Given the description of an element on the screen output the (x, y) to click on. 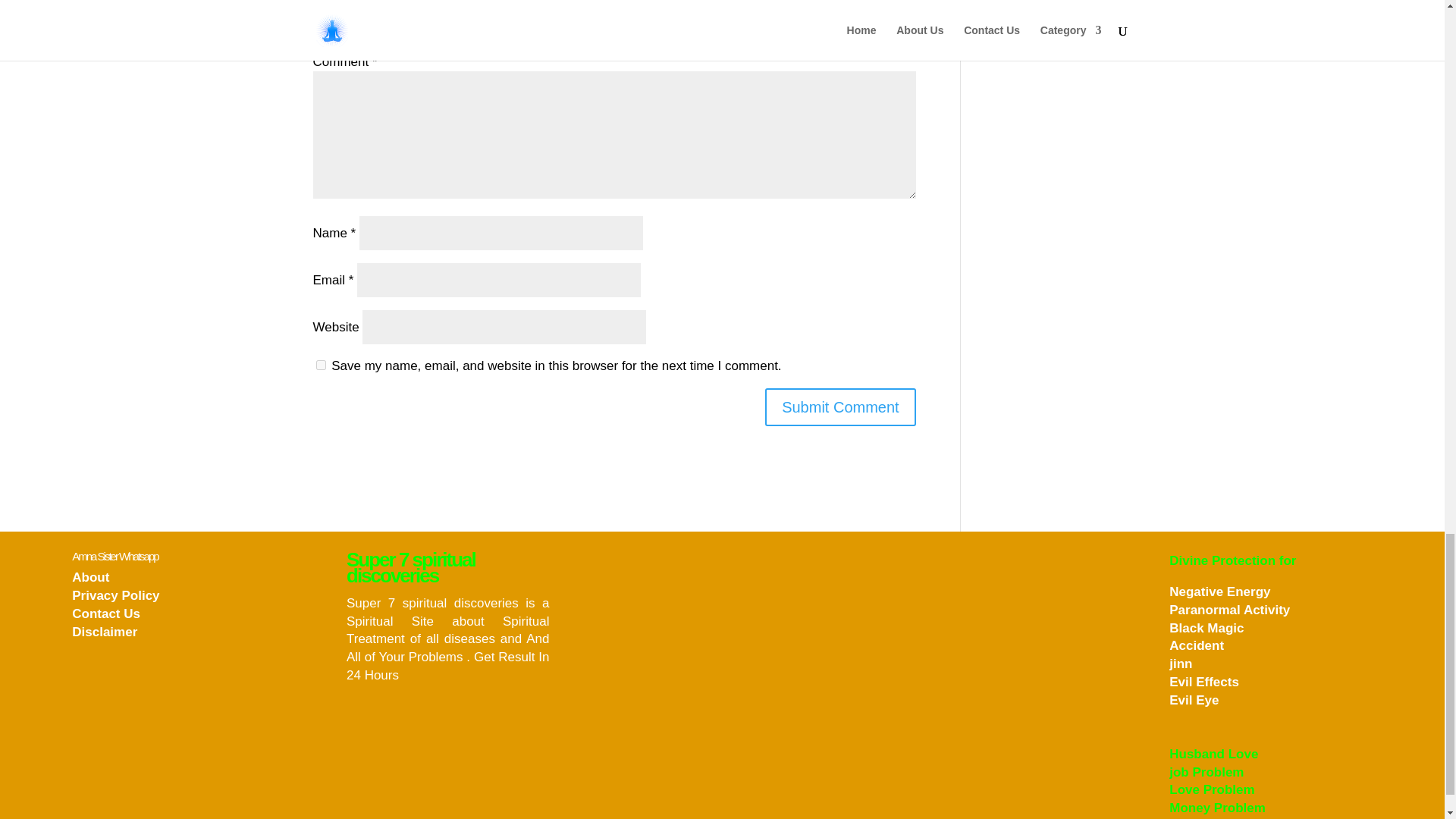
Black Magic (1206, 627)
Submit Comment (840, 406)
jinn (1180, 663)
Paranormal Activity (1229, 609)
Evil Effects (1204, 681)
Submit Comment (840, 406)
Negative Energy (1219, 591)
yes (319, 365)
